Given the description of an element on the screen output the (x, y) to click on. 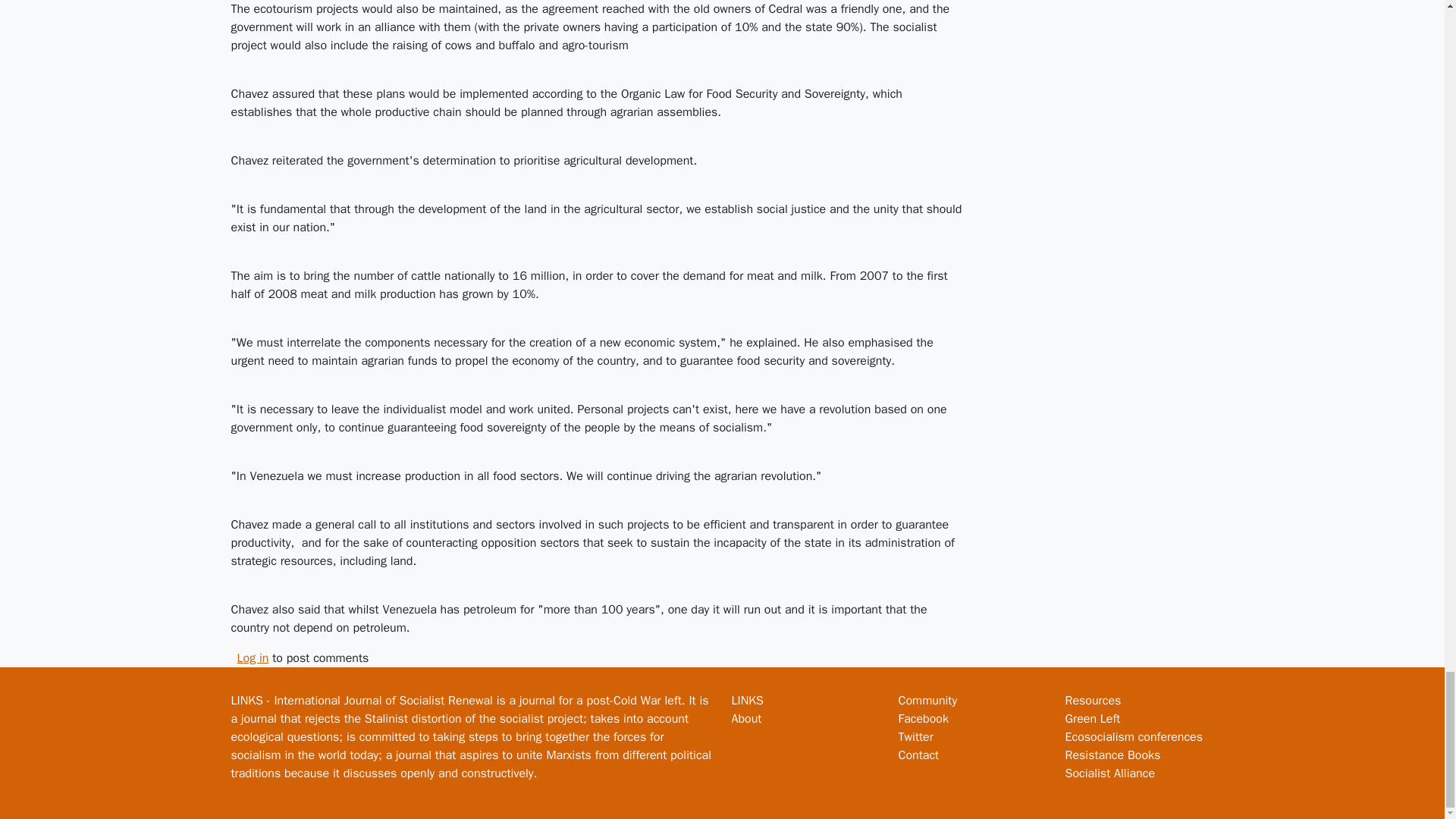
Log in (251, 657)
